Given the description of an element on the screen output the (x, y) to click on. 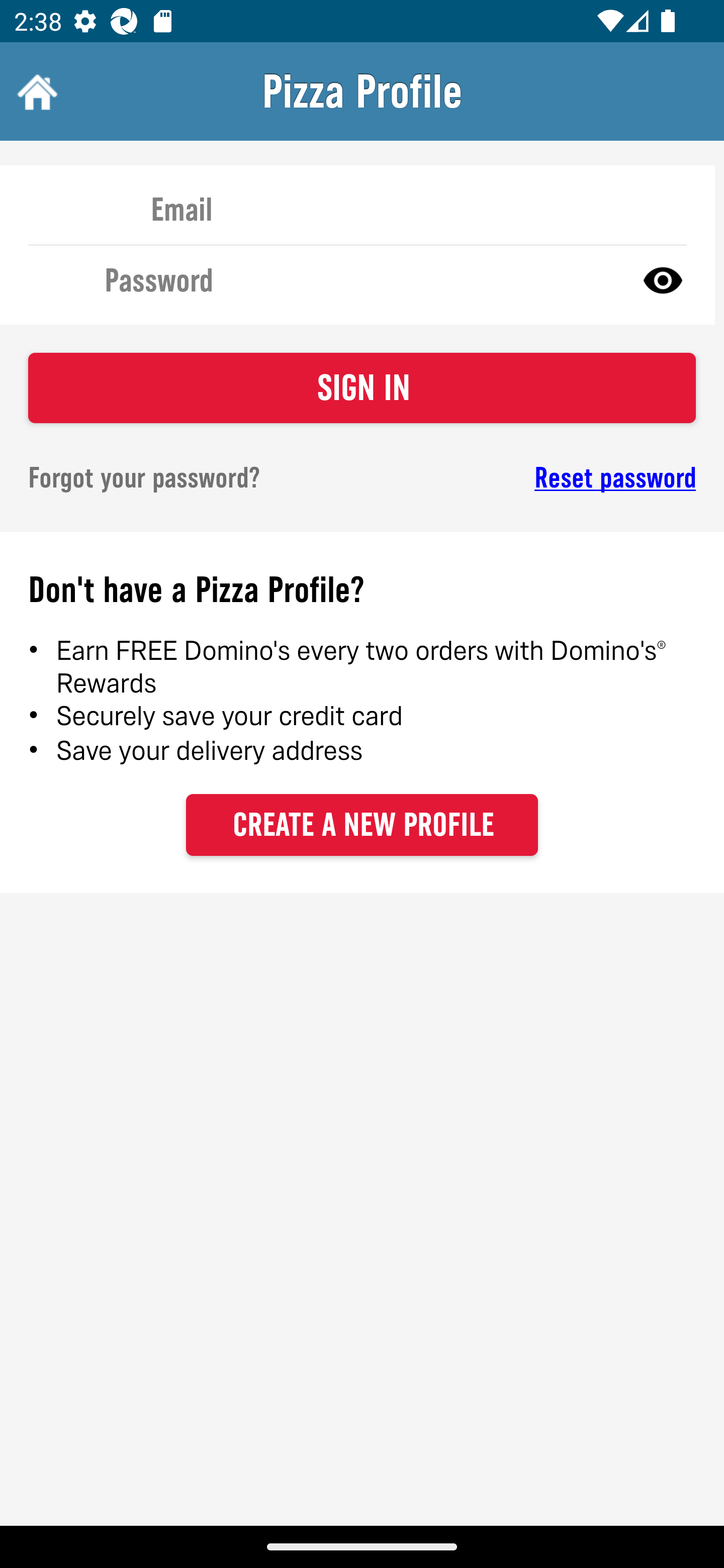
Home (35, 91)
Show Password (663, 279)
SIGN IN (361, 387)
Reset password (545, 477)
CREATE A NEW PROFILE (361, 824)
